Given the description of an element on the screen output the (x, y) to click on. 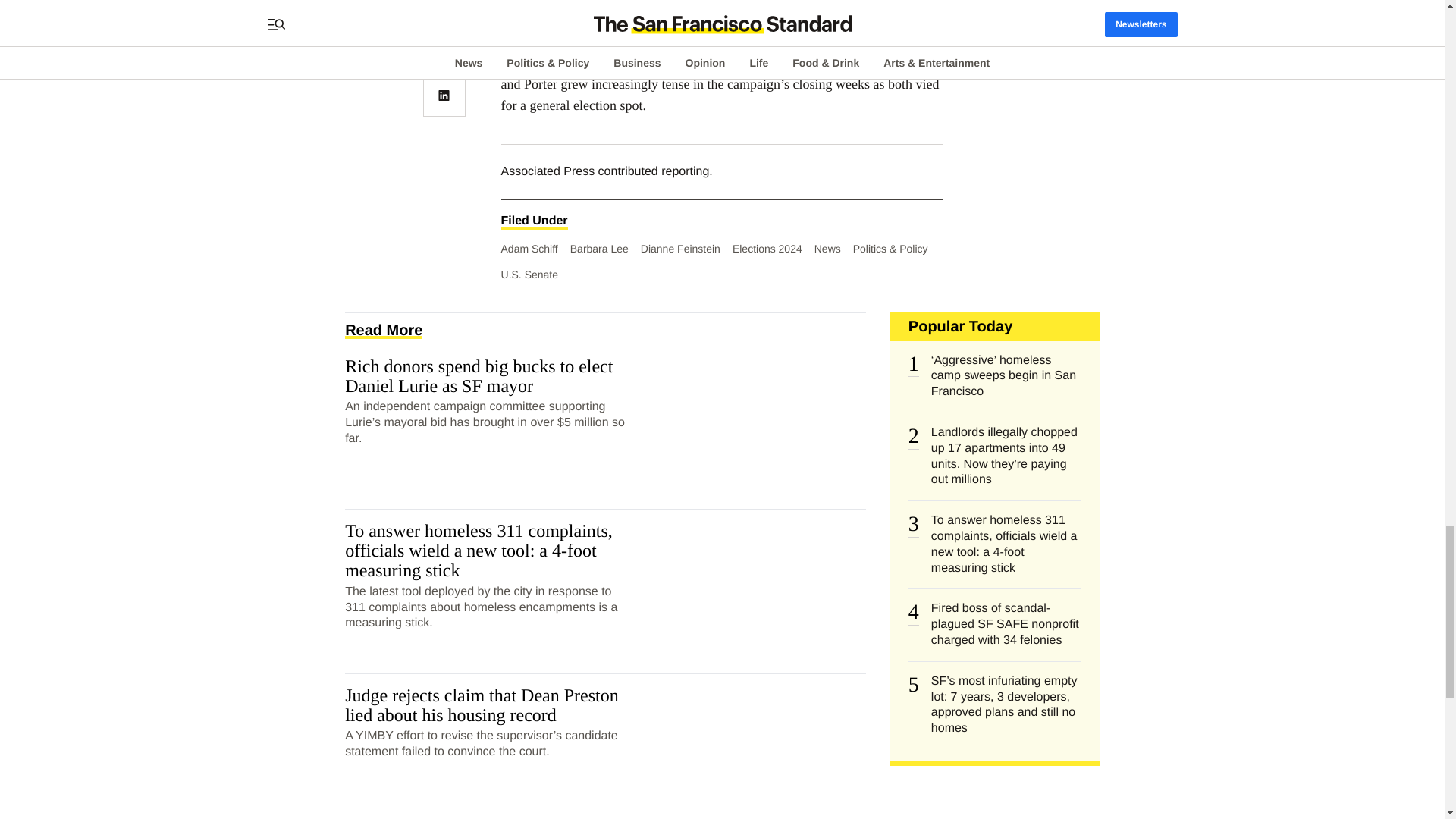
Adam Schiff (528, 248)
U.S. Senate (529, 274)
Barbara Lee (599, 248)
Dianne Feinstein (680, 248)
Elections 2024 (767, 248)
News (827, 248)
